Given the description of an element on the screen output the (x, y) to click on. 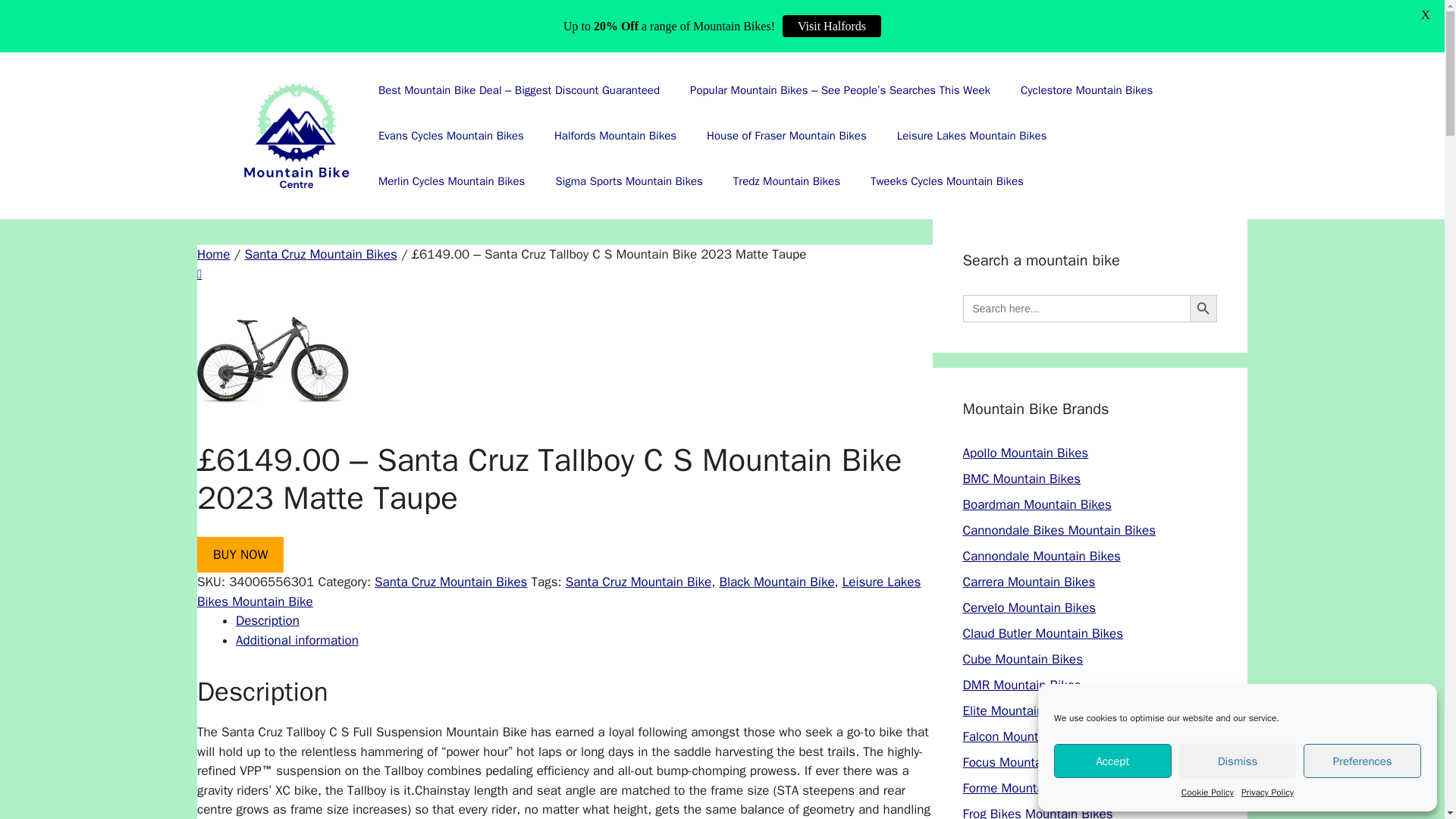
Halfords Mountain Bikes (614, 135)
Tredz Limited Mountain Bikes (786, 180)
House of Fraser Mountain Bikes (786, 135)
Leisure Lakes Bikes Mountain Bike (558, 591)
Additional information (296, 640)
Leisure Lakes Mountain Bikes (972, 135)
Santa Cruz Mountain Bikes (320, 254)
Evans Cycles Mountain Bikes (450, 135)
Accept (1113, 760)
Cookie Policy (1206, 792)
Sigma Sports Mountain Bikes (628, 180)
Black Mountain Bike (776, 581)
Privacy Policy (1267, 792)
Tweeks Cycles Mountain Bikes (947, 180)
Tredz Mountain Bikes (786, 180)
